Given the description of an element on the screen output the (x, y) to click on. 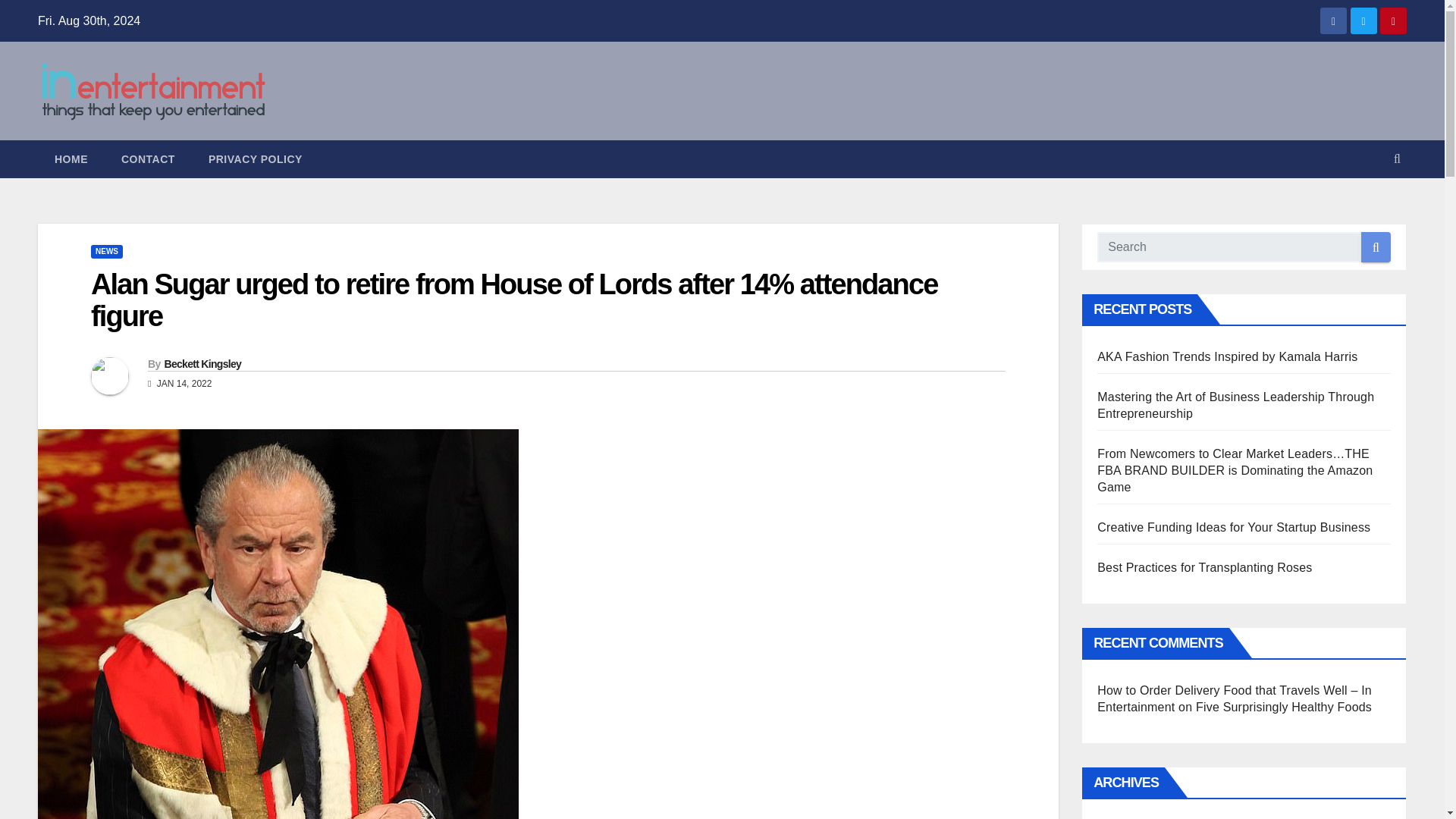
AKA Fashion Trends Inspired by Kamala Harris (1226, 356)
PRIVACY POLICY (255, 159)
Beckett Kingsley (202, 363)
HOME (70, 159)
NEWS (106, 251)
CONTACT (148, 159)
Creative Funding Ideas for Your Startup Business (1233, 526)
Home (70, 159)
